Given the description of an element on the screen output the (x, y) to click on. 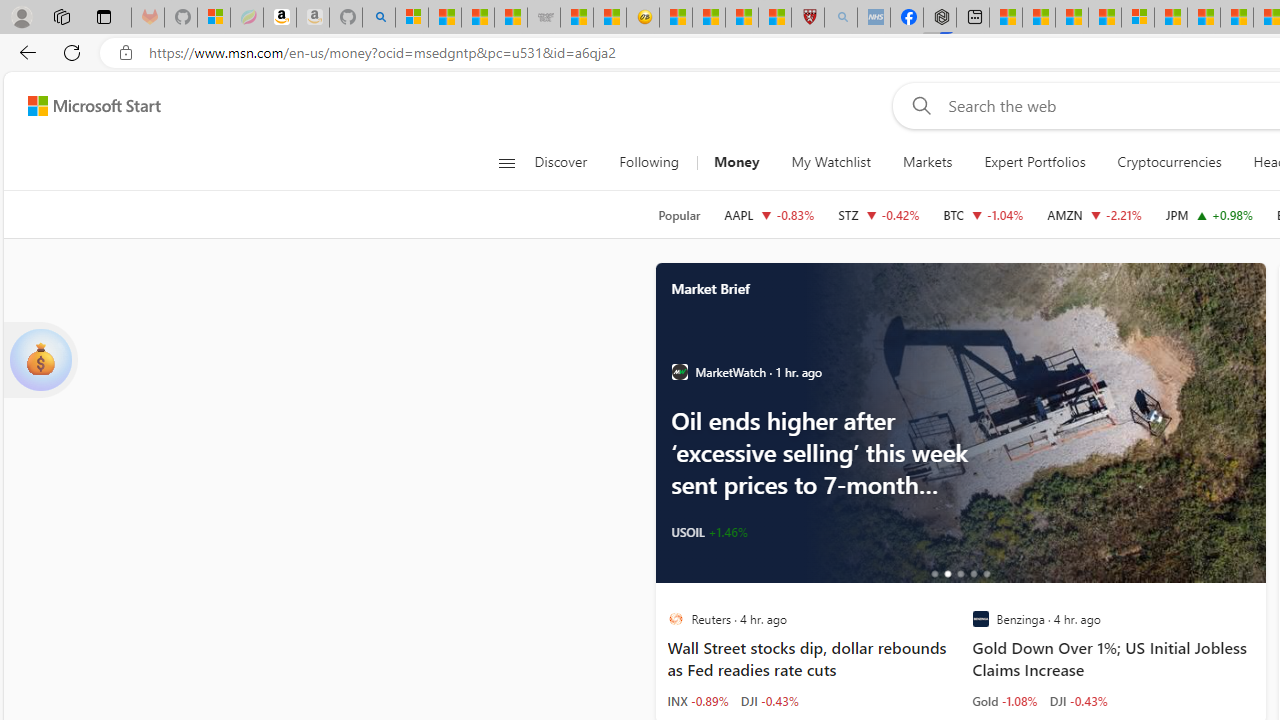
Cryptocurrencies (1169, 162)
INX -0.89% (697, 700)
Markets (926, 162)
Recipes - MSN (676, 17)
Microsoft account | Privacy (1138, 17)
Skip to content (86, 105)
Reuters (674, 619)
